Given the description of an element on the screen output the (x, y) to click on. 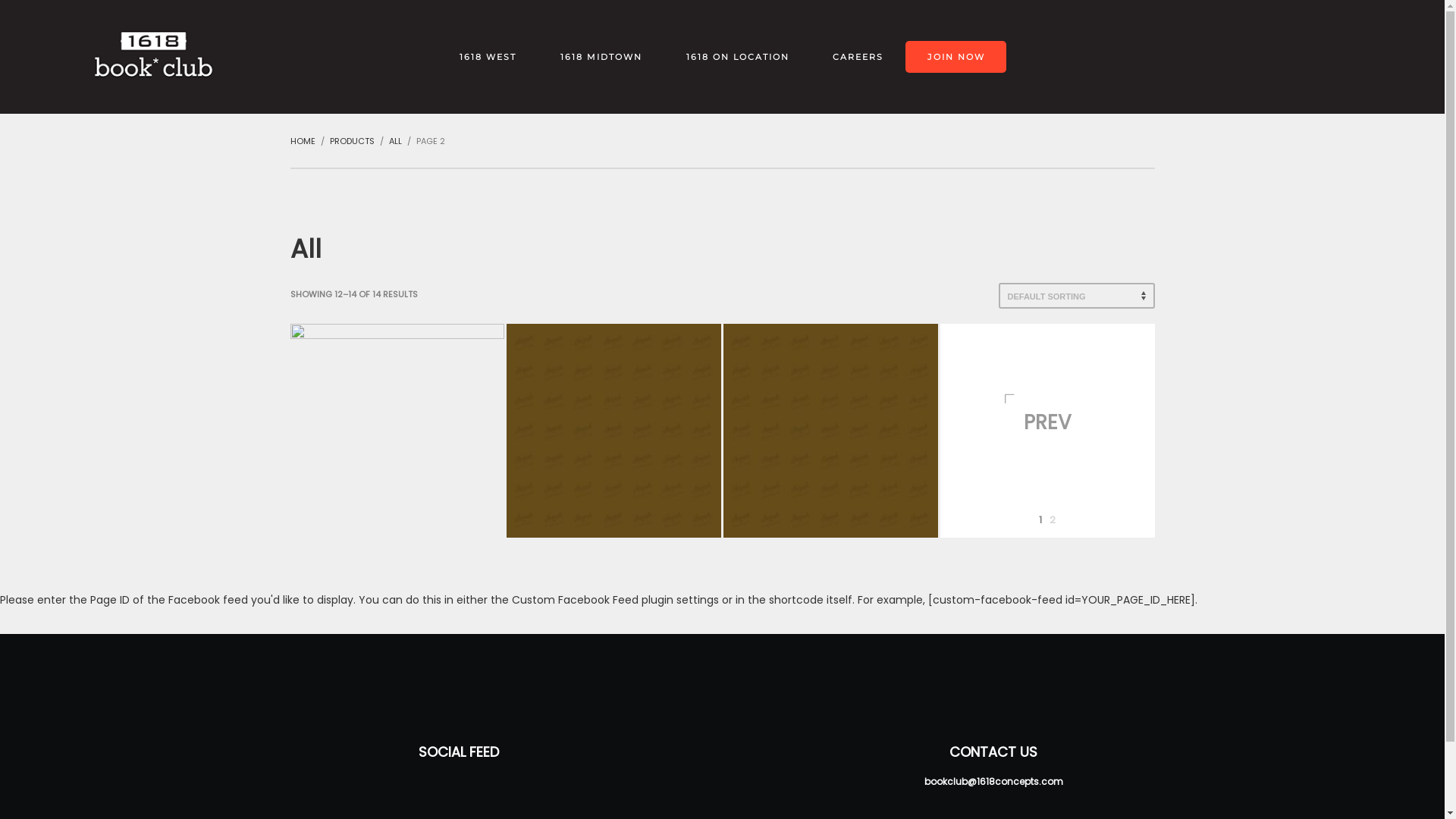
HOME Element type: text (301, 140)
1618 ON LOCATION Element type: text (737, 56)
PRODUCTS Element type: text (351, 140)
CAREERS Element type: text (857, 56)
1618 WEST Element type: text (488, 56)
JOIN NOW Element type: text (956, 56)
By book we mean wine Element type: hover (153, 56)
1 Element type: text (1039, 519)
1618 MIDTOWN Element type: text (601, 56)
ALL Element type: text (394, 140)
